Given the description of an element on the screen output the (x, y) to click on. 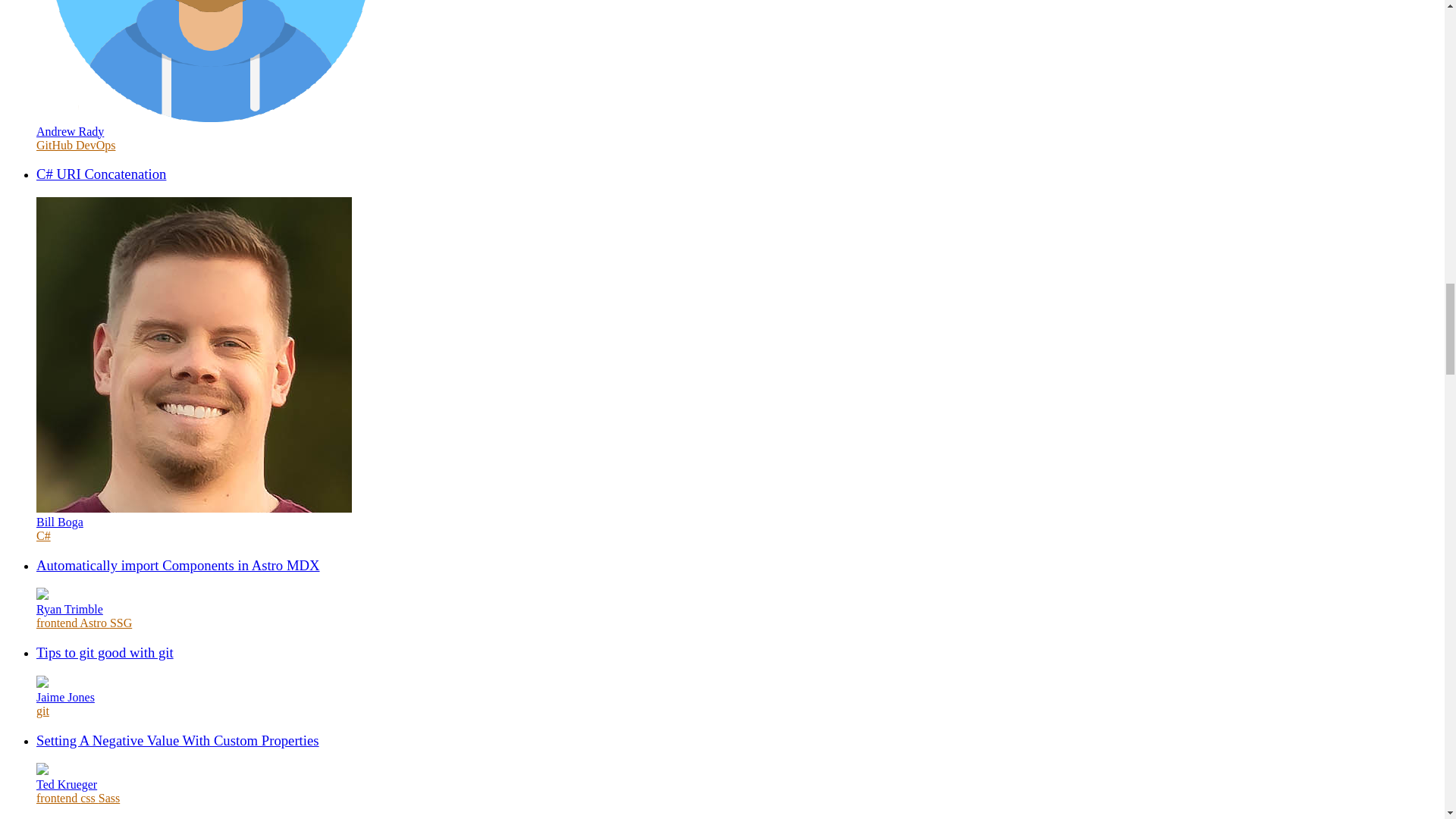
Automatically import Components in Astro MDX (178, 565)
Tips to git good with git (104, 652)
Andrew Rady (69, 131)
GitHub (55, 144)
Setting A Negative Value With Custom Properties (177, 740)
